Given the description of an element on the screen output the (x, y) to click on. 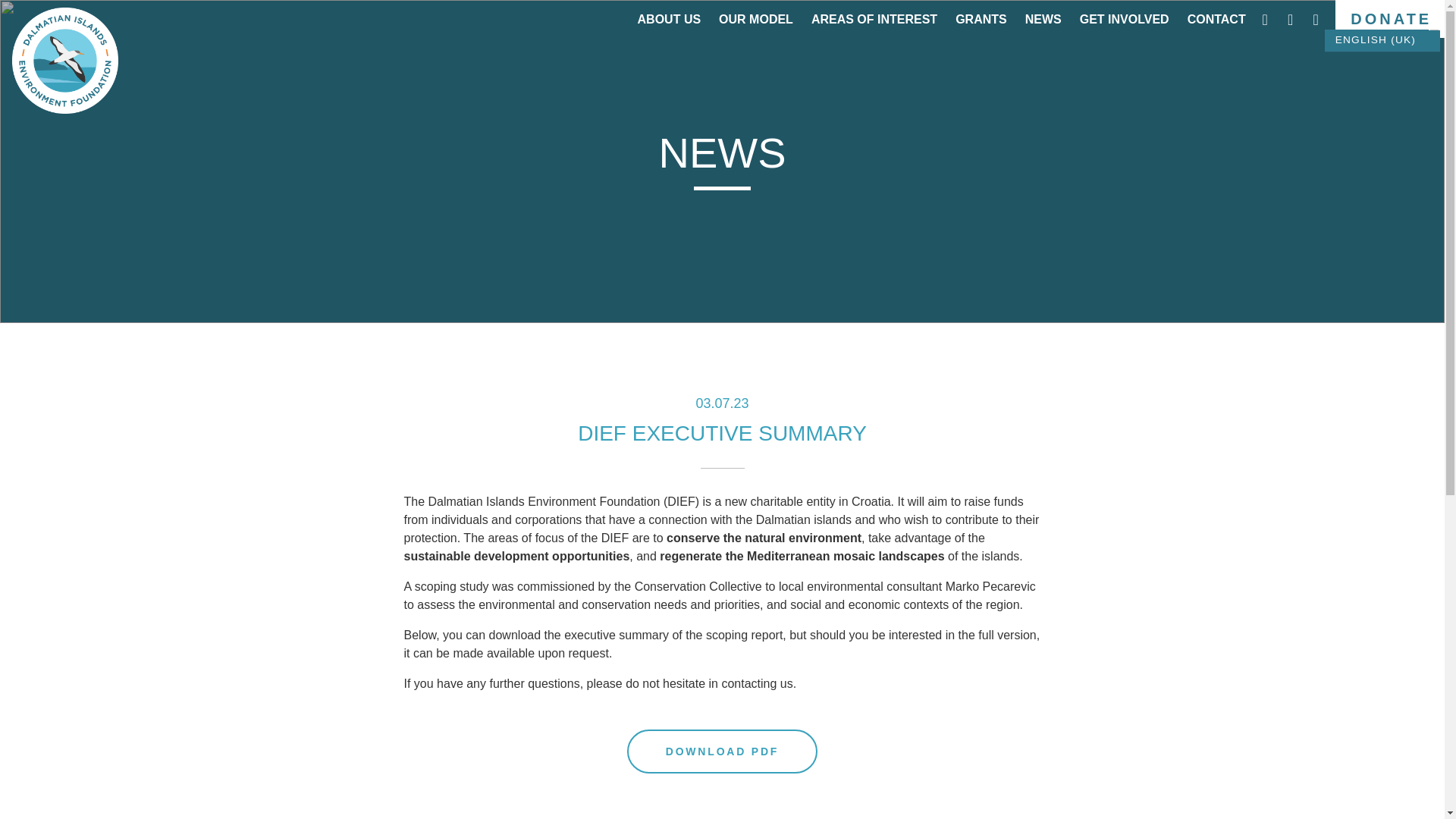
Hrvatski (1376, 62)
NEWS (1043, 22)
HRVATSKI (1376, 62)
AREAS OF INTEREST (873, 22)
OUR MODEL (756, 22)
facebook (1292, 19)
GRANTS (981, 22)
linkedin (1315, 19)
ABOUT US (669, 22)
CONTACT (1217, 22)
instagram (1266, 19)
GET INVOLVED (1124, 22)
DOWNLOAD PDF (721, 751)
